Given the description of an element on the screen output the (x, y) to click on. 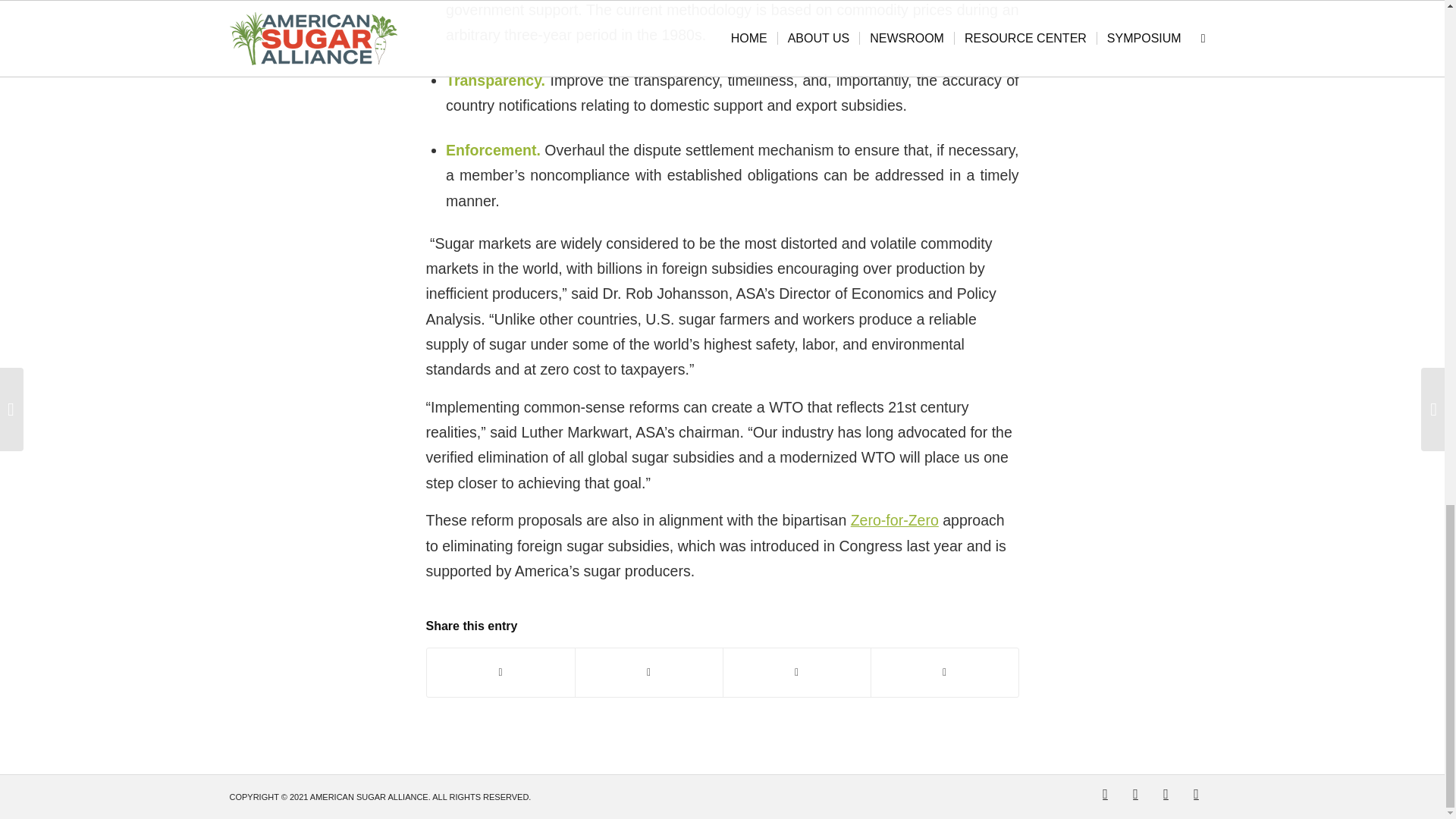
Facebook (1135, 793)
Zero-for-Zero (894, 519)
Twitter (1104, 793)
Instagram (1196, 793)
Youtube (1165, 793)
